Given the description of an element on the screen output the (x, y) to click on. 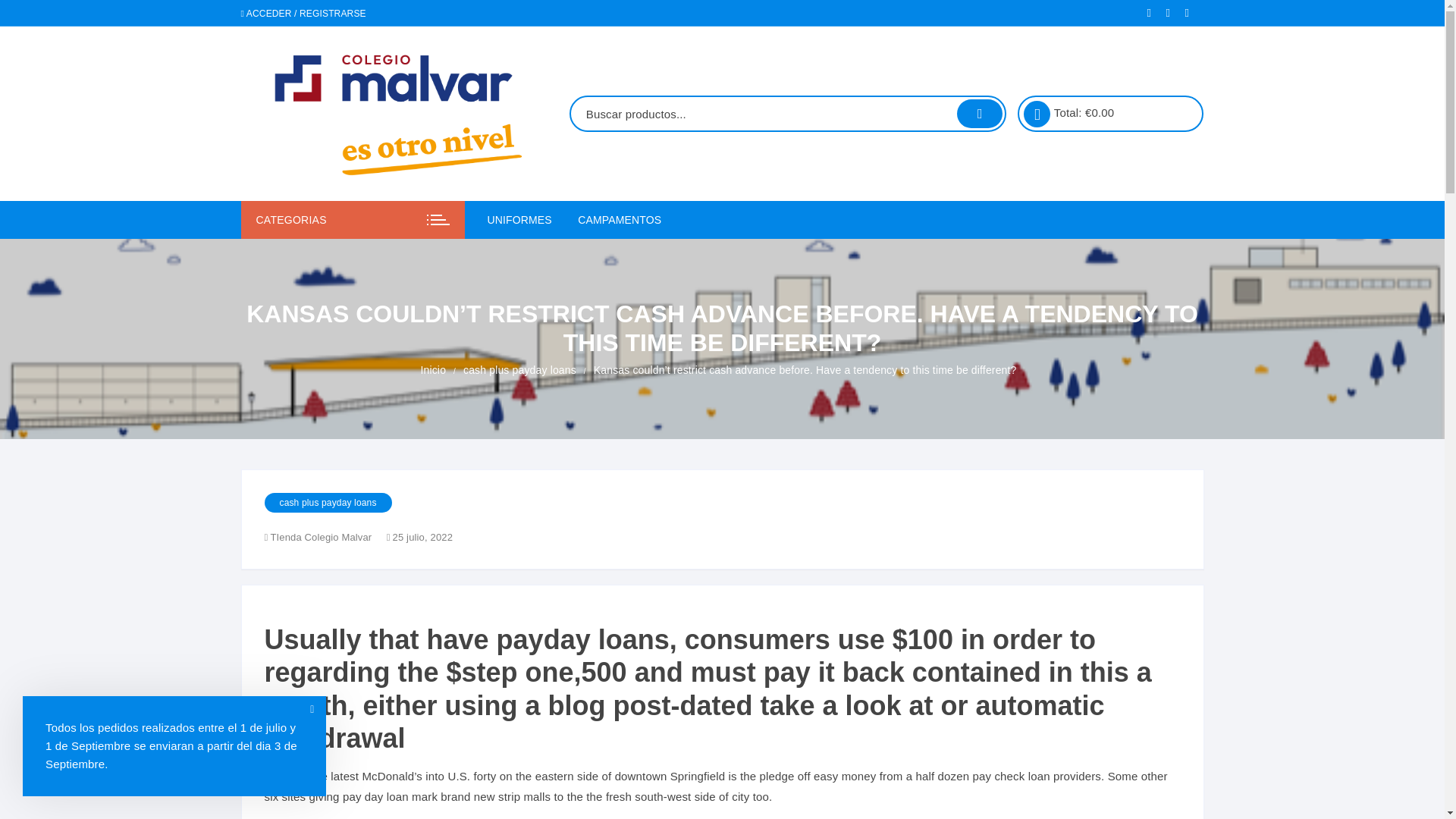
UNIFORMES (524, 219)
TIenda Colegio Malvar (322, 537)
Ropa Deportiva (581, 293)
Inicio (432, 369)
CATEGORIAS (352, 219)
Ropa de Vestir (581, 257)
25 julio, 2022 (419, 537)
cash plus payday loans (327, 502)
cash plus payday loans (519, 369)
Ropa Infantil (581, 329)
